Given the description of an element on the screen output the (x, y) to click on. 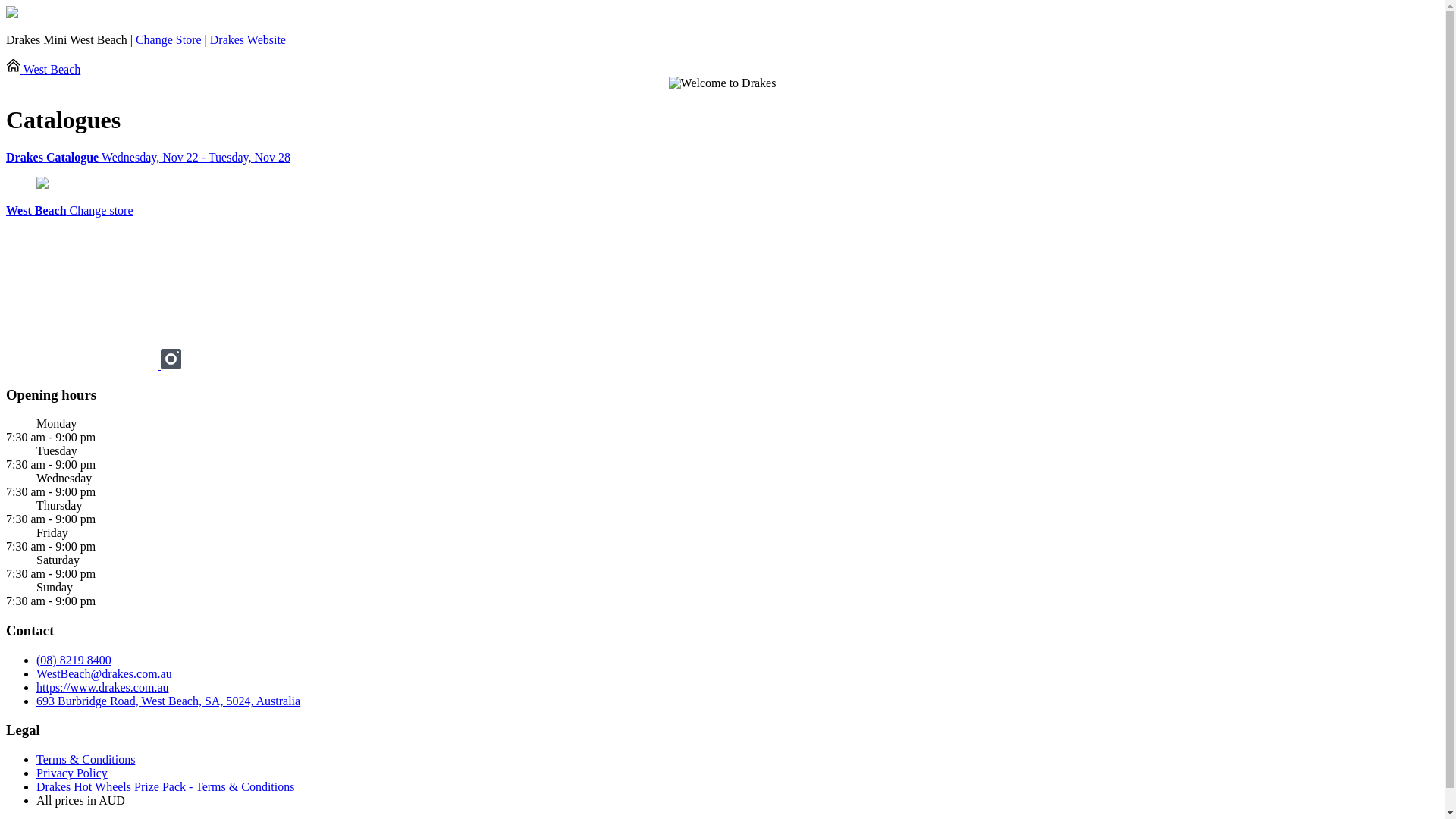
693 Burbridge Road, West Beach, SA, 5024, Australia Element type: text (168, 700)
Terms & Conditions Element type: text (85, 759)
WestBeach@drakes.com.au Element type: text (104, 673)
Instagram drakessupermarkets Element type: hover (170, 364)
West Beach Element type: text (43, 68)
Change Store Element type: text (168, 39)
Facebook Element type: hover (83, 364)
Drakes Catalogue Wednesday, Nov 22 - Tuesday, Nov 28 Element type: text (722, 156)
West Beach Change store Element type: text (69, 209)
(08) 8219 8400 Element type: text (73, 659)
Drakes Hot Wheels Prize Pack - Terms & Conditions Element type: text (165, 786)
Drakes Website Element type: text (247, 39)
Privacy Policy Element type: text (71, 772)
https://www.drakes.com.au Element type: text (102, 686)
